Given the description of an element on the screen output the (x, y) to click on. 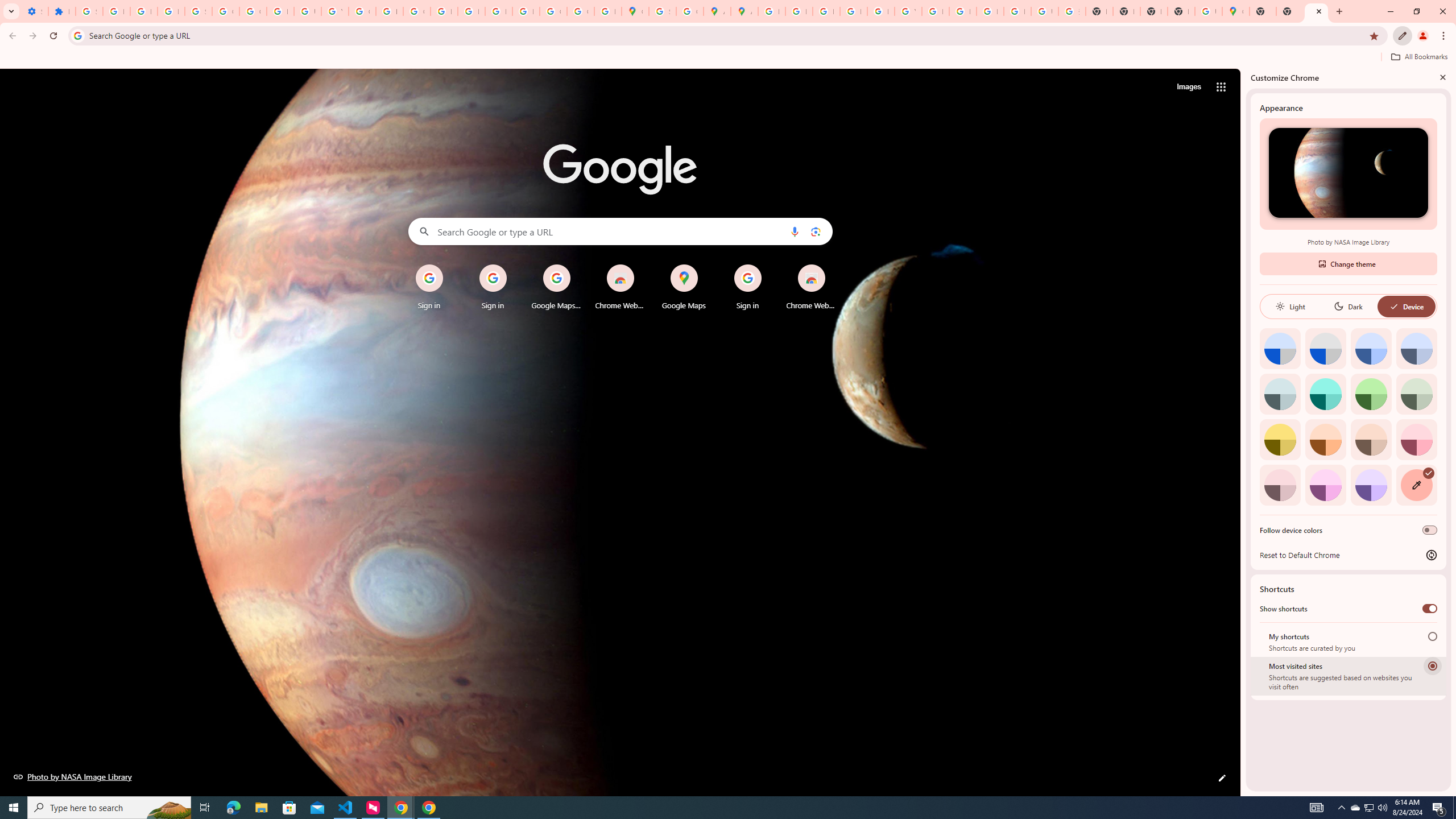
Sign in - Google Accounts (197, 11)
Custom color (1416, 484)
Fuchsia (1325, 484)
AutomationID: svg (1428, 472)
YouTube (334, 11)
Follow device colors (1429, 529)
Google Account Help (225, 11)
